Given the description of an element on the screen output the (x, y) to click on. 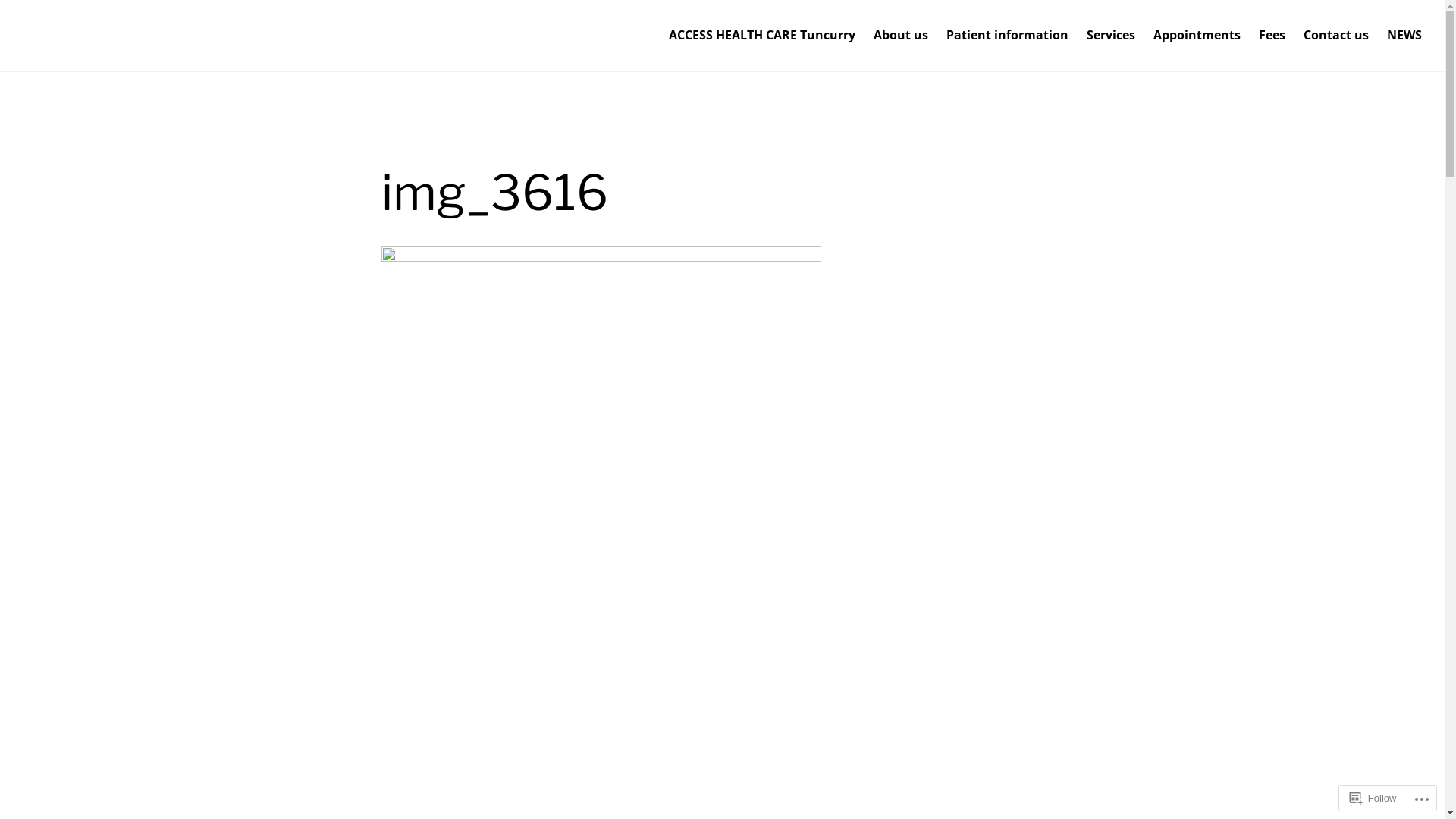
Fees Element type: text (1271, 35)
Follow Element type: text (1372, 797)
Services Element type: text (1110, 35)
About us Element type: text (900, 35)
Access Health Care Tuncurry Element type: text (189, 50)
NEWS Element type: text (1403, 35)
Contact us Element type: text (1335, 35)
Patient information Element type: text (1007, 35)
Appointments Element type: text (1196, 35)
ACCESS HEALTH CARE Tuncurry Element type: text (761, 35)
